Given the description of an element on the screen output the (x, y) to click on. 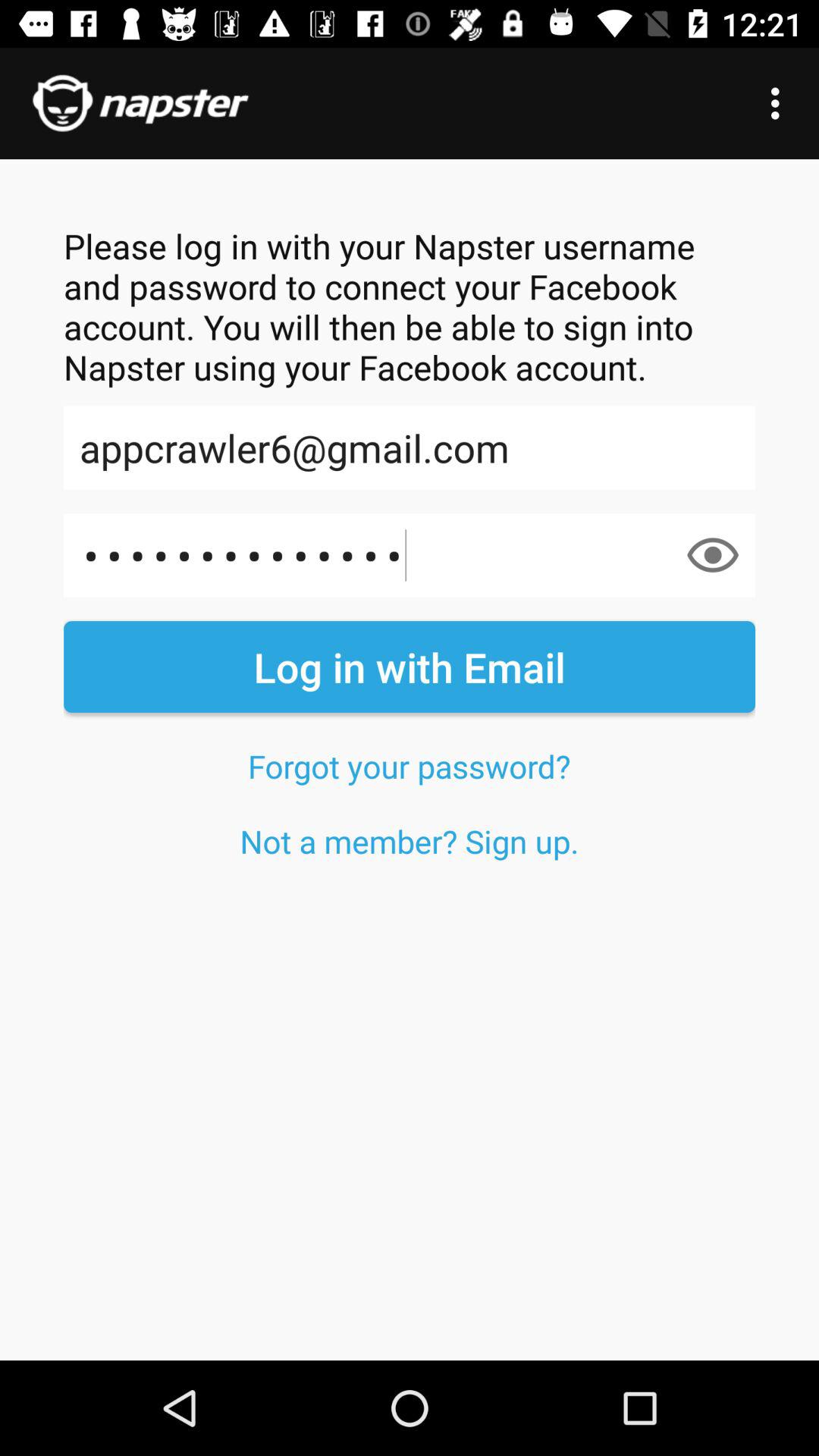
turn off appcrawler3116 item (409, 555)
